Given the description of an element on the screen output the (x, y) to click on. 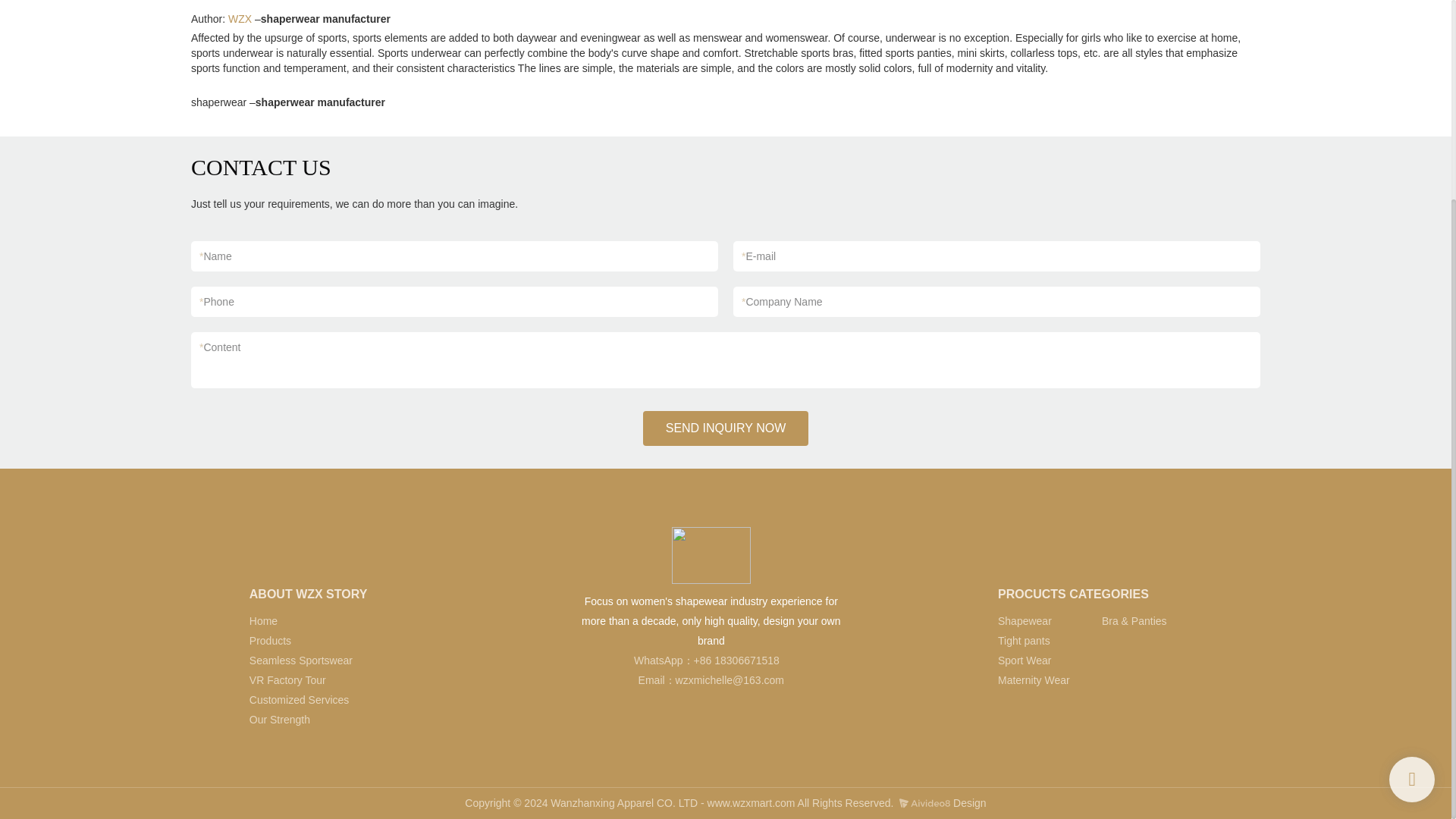
WZX (239, 19)
WZX (239, 19)
SEND INQUIRY NOW (726, 428)
